Given the description of an element on the screen output the (x, y) to click on. 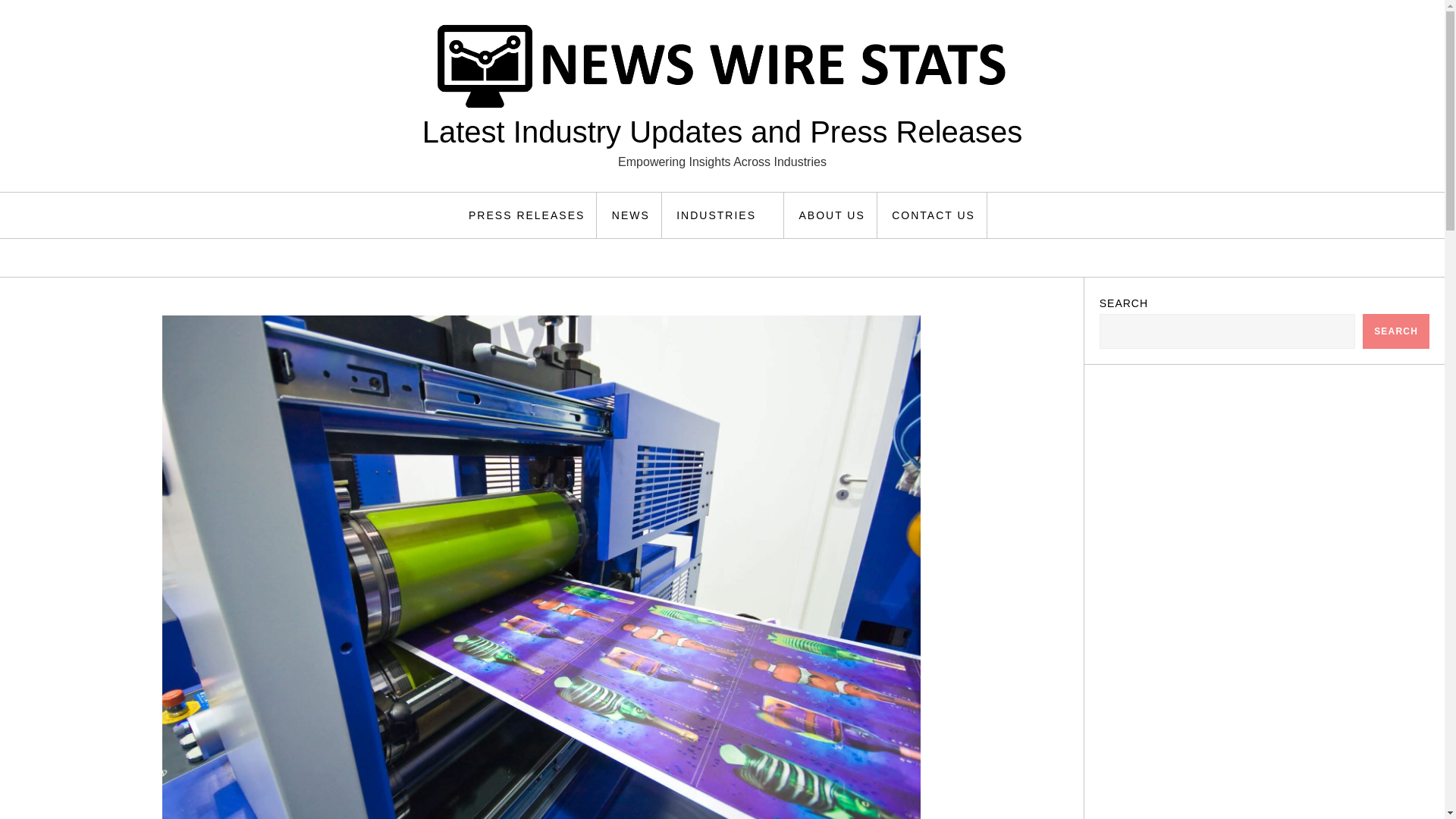
NEWS (630, 215)
PRESS RELEASES (526, 215)
Latest Industry Updates and Press Releases (722, 131)
INDUSTRIES (724, 215)
SEARCH (1395, 330)
ABOUT US (831, 215)
CONTACT US (933, 215)
